Given the description of an element on the screen output the (x, y) to click on. 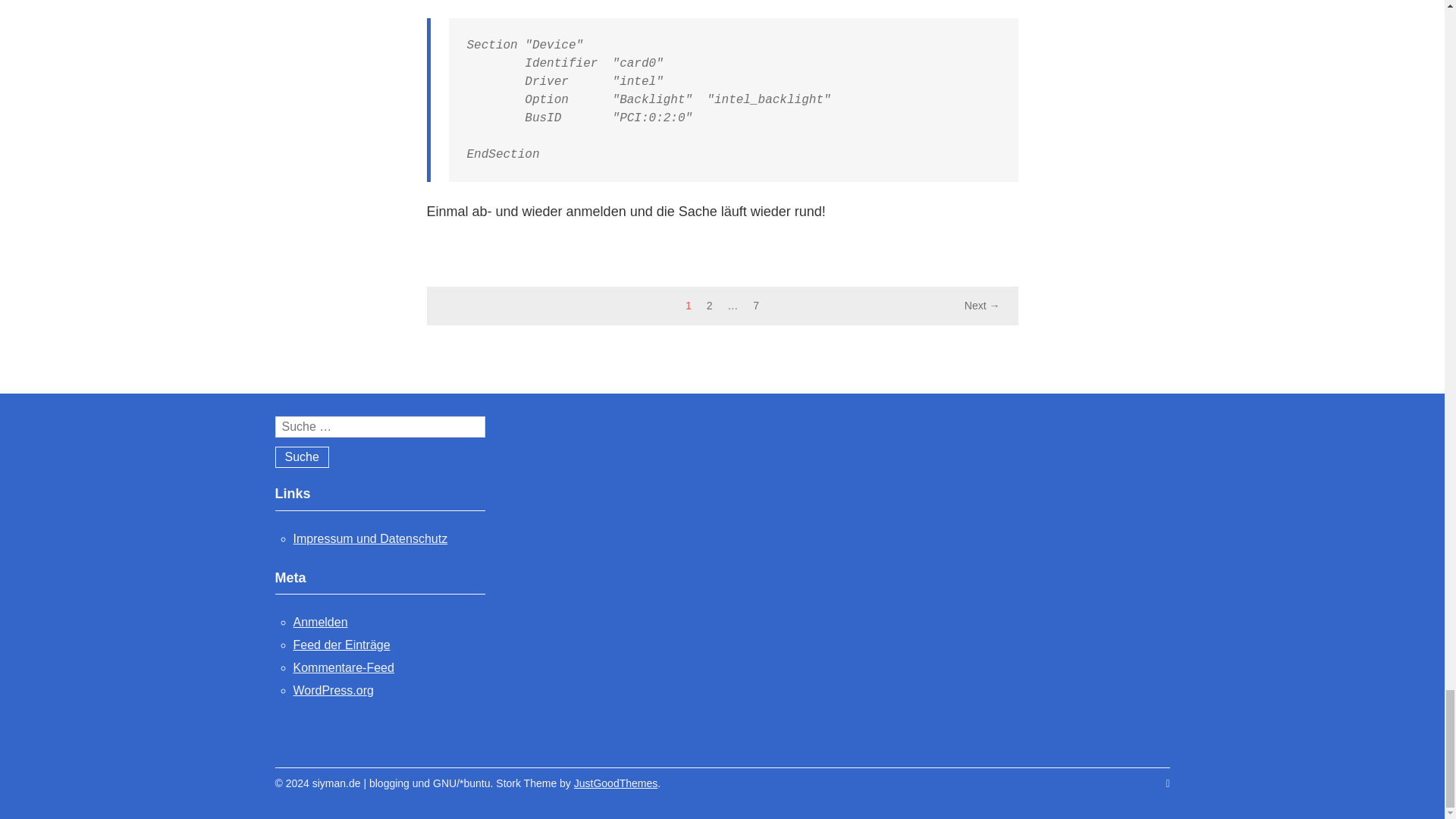
Suche (302, 456)
Impressum und Datenschutz (369, 538)
Suche (302, 456)
